Given the description of an element on the screen output the (x, y) to click on. 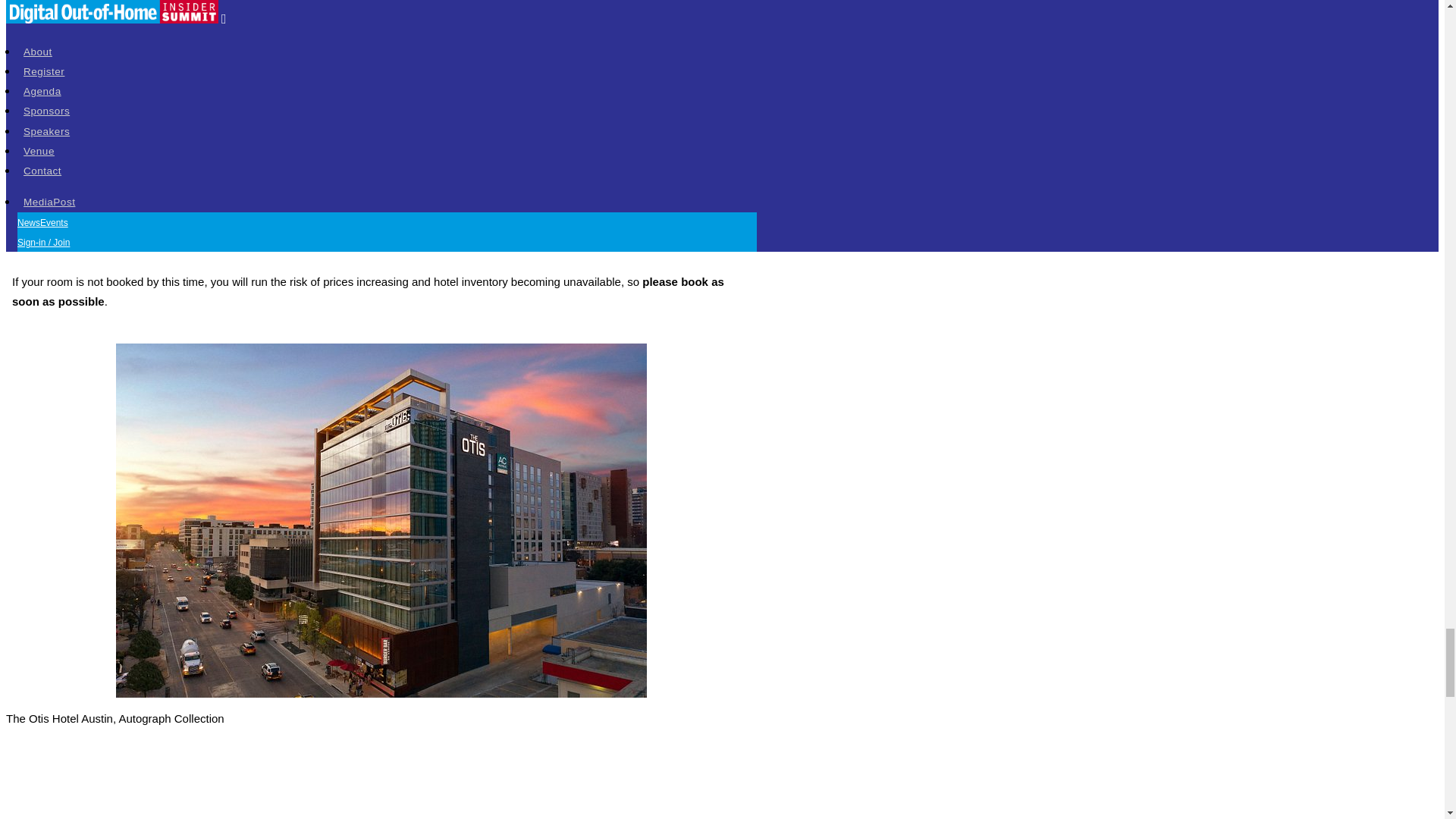
here (437, 122)
